Given the description of an element on the screen output the (x, y) to click on. 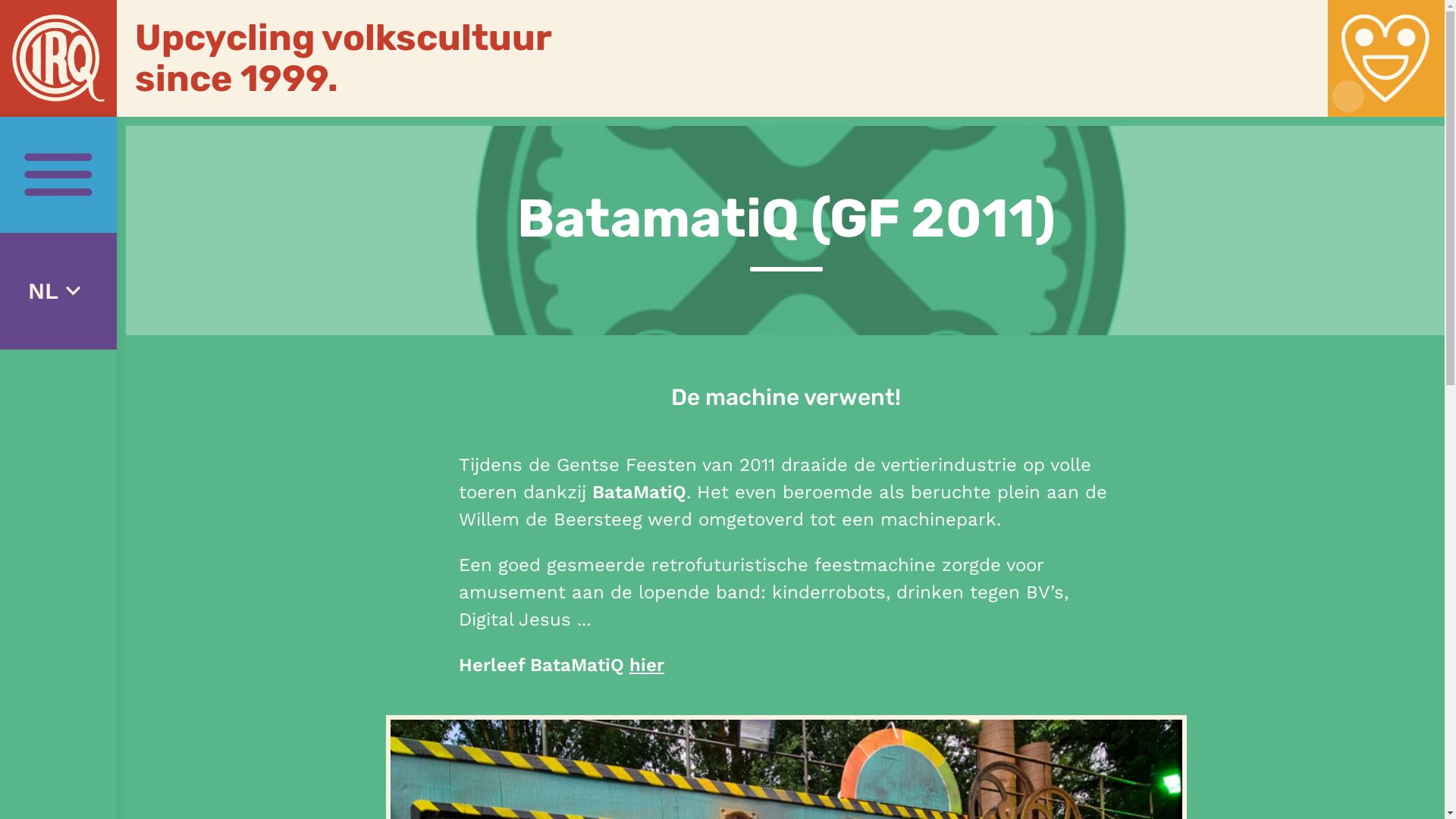
Menu Element type: text (58, 174)
hier Element type: text (646, 664)
Contact Element type: text (1385, 58)
NL Element type: text (58, 290)
